Given the description of an element on the screen output the (x, y) to click on. 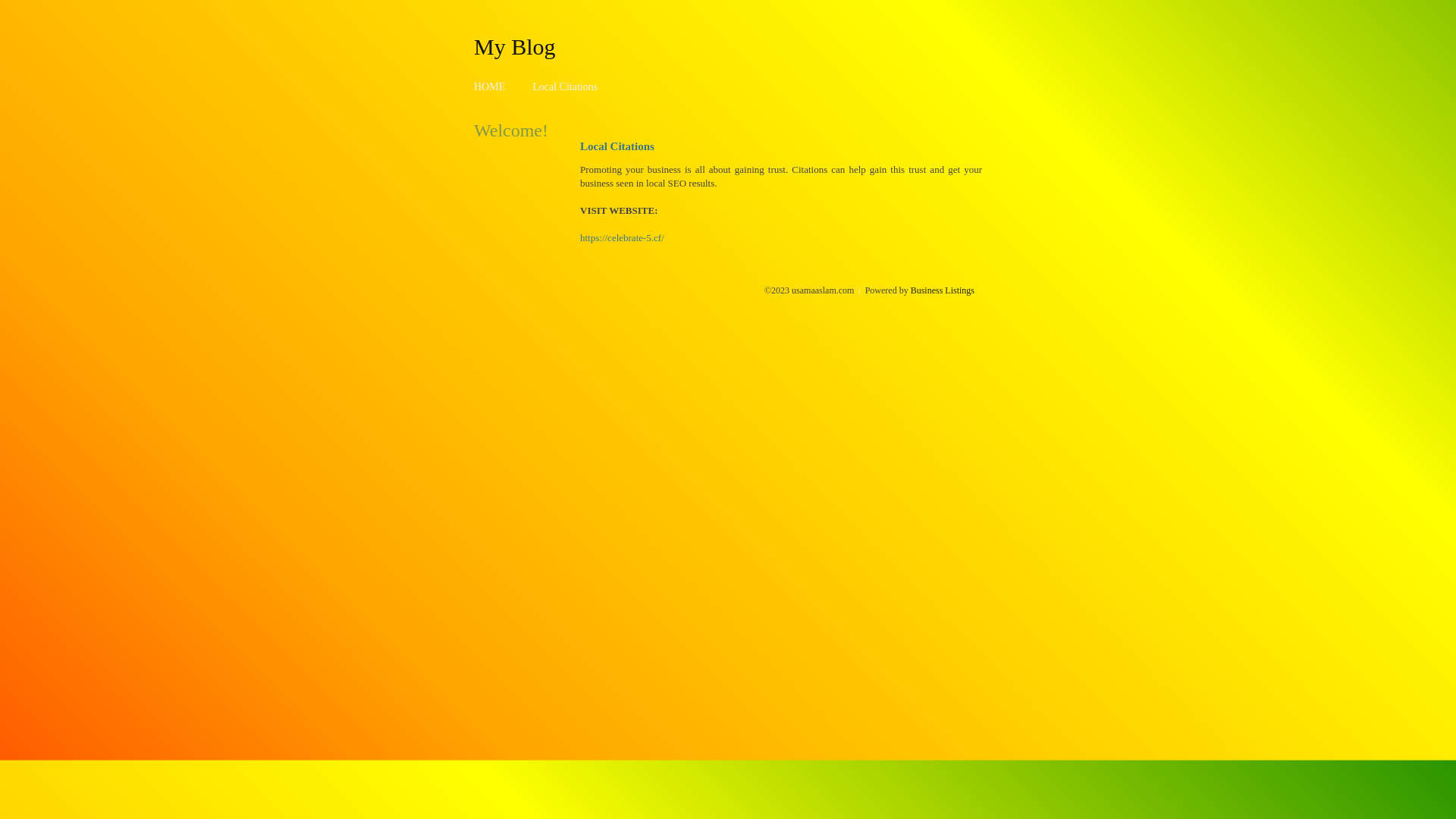
My Blog Element type: text (514, 46)
HOME Element type: text (489, 86)
https://celebrate-5.cf/ Element type: text (622, 237)
Local Citations Element type: text (564, 86)
Business Listings Element type: text (942, 290)
